Given the description of an element on the screen output the (x, y) to click on. 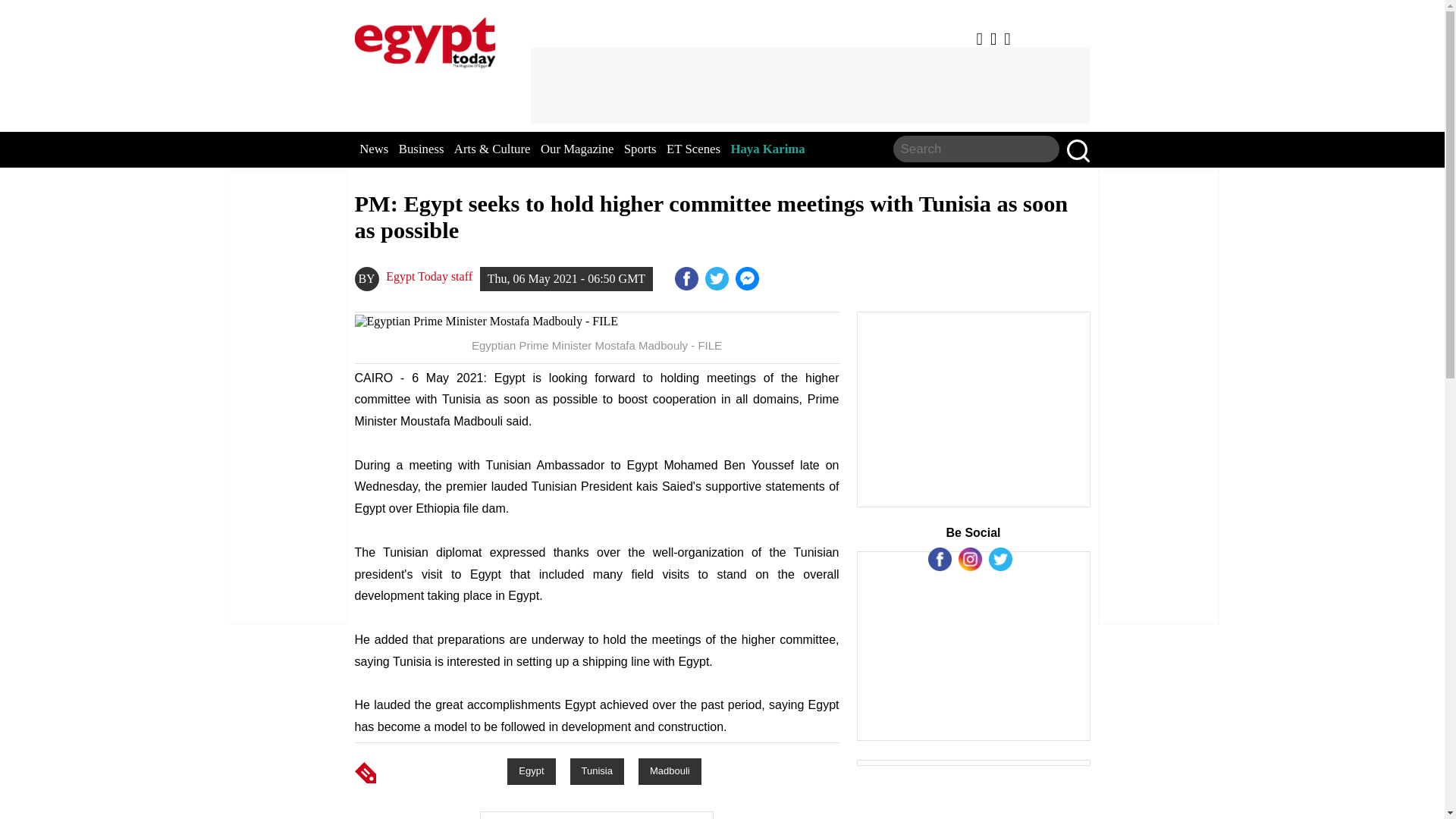
Egyptian Prime Minister Mostafa Madbouly - FILE (597, 321)
Tunisia (597, 770)
Sports (640, 149)
Madbouli (670, 770)
Egypt Today staff (428, 276)
News (373, 149)
Business (421, 149)
Haya Karima (767, 149)
Egypt (530, 770)
ET Scenes (693, 149)
Our Magazine (576, 149)
Sisi heads to Guinea first destination in overseas tour (748, 278)
EgyptToday (425, 39)
